Given the description of an element on the screen output the (x, y) to click on. 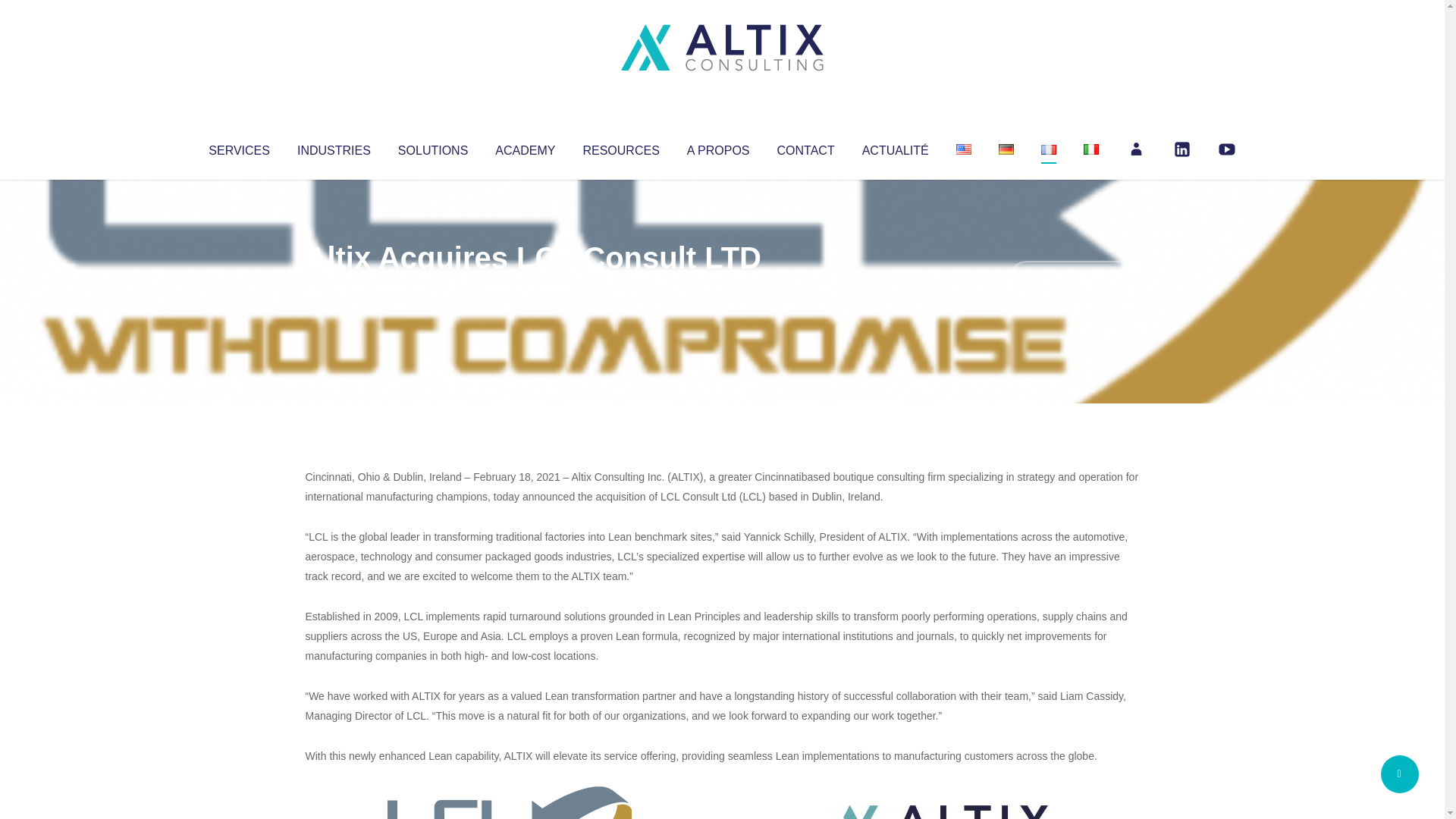
No Comments (1073, 278)
RESOURCES (620, 146)
SOLUTIONS (432, 146)
Articles par Altix (333, 287)
A PROPOS (718, 146)
SERVICES (238, 146)
ACADEMY (524, 146)
INDUSTRIES (334, 146)
Altix (333, 287)
Uncategorized (530, 287)
